Given the description of an element on the screen output the (x, y) to click on. 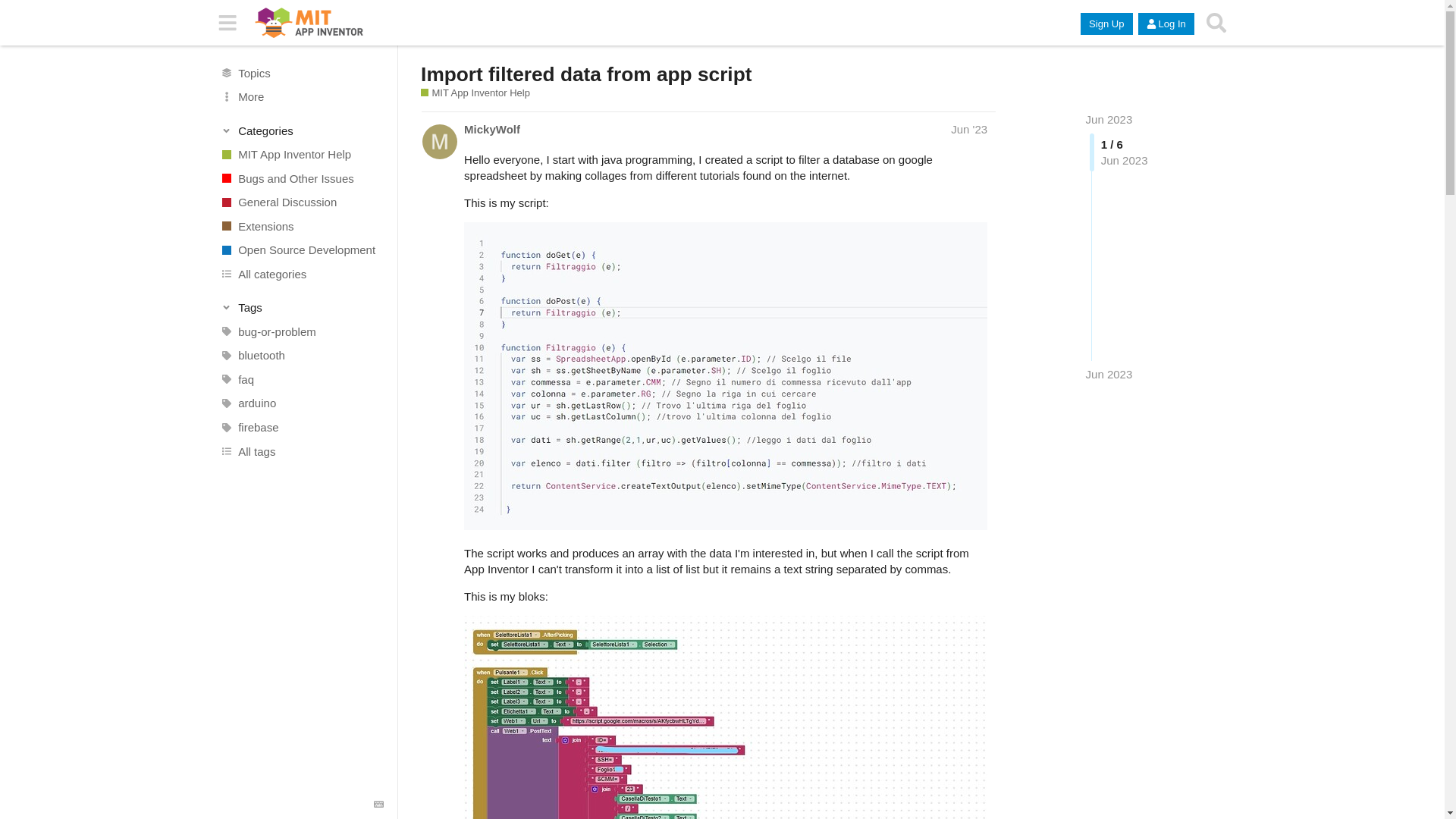
All topics (301, 72)
MIT App Inventor Help (301, 154)
firebase (301, 427)
MickyWolf (491, 129)
bug-or-problem (301, 331)
Toggle section (301, 307)
Report potential issues with App Inventor in this category. (301, 178)
arduino (301, 403)
Sign Up (1106, 24)
Sidebar (227, 22)
MIT App Inventor Help (474, 92)
All tags (301, 450)
Toggle section (301, 130)
